Given the description of an element on the screen output the (x, y) to click on. 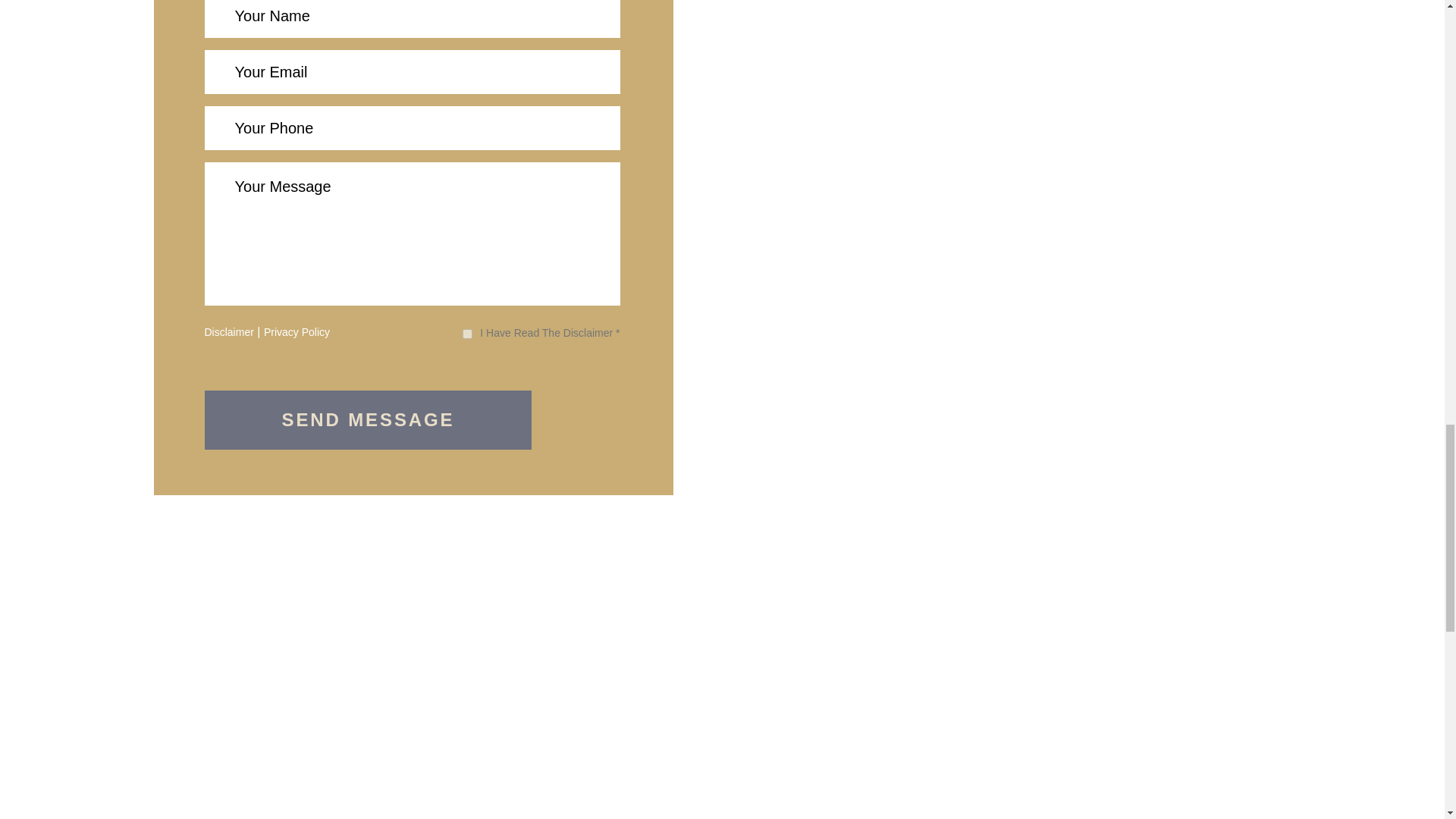
Send Message (368, 419)
